Given the description of an element on the screen output the (x, y) to click on. 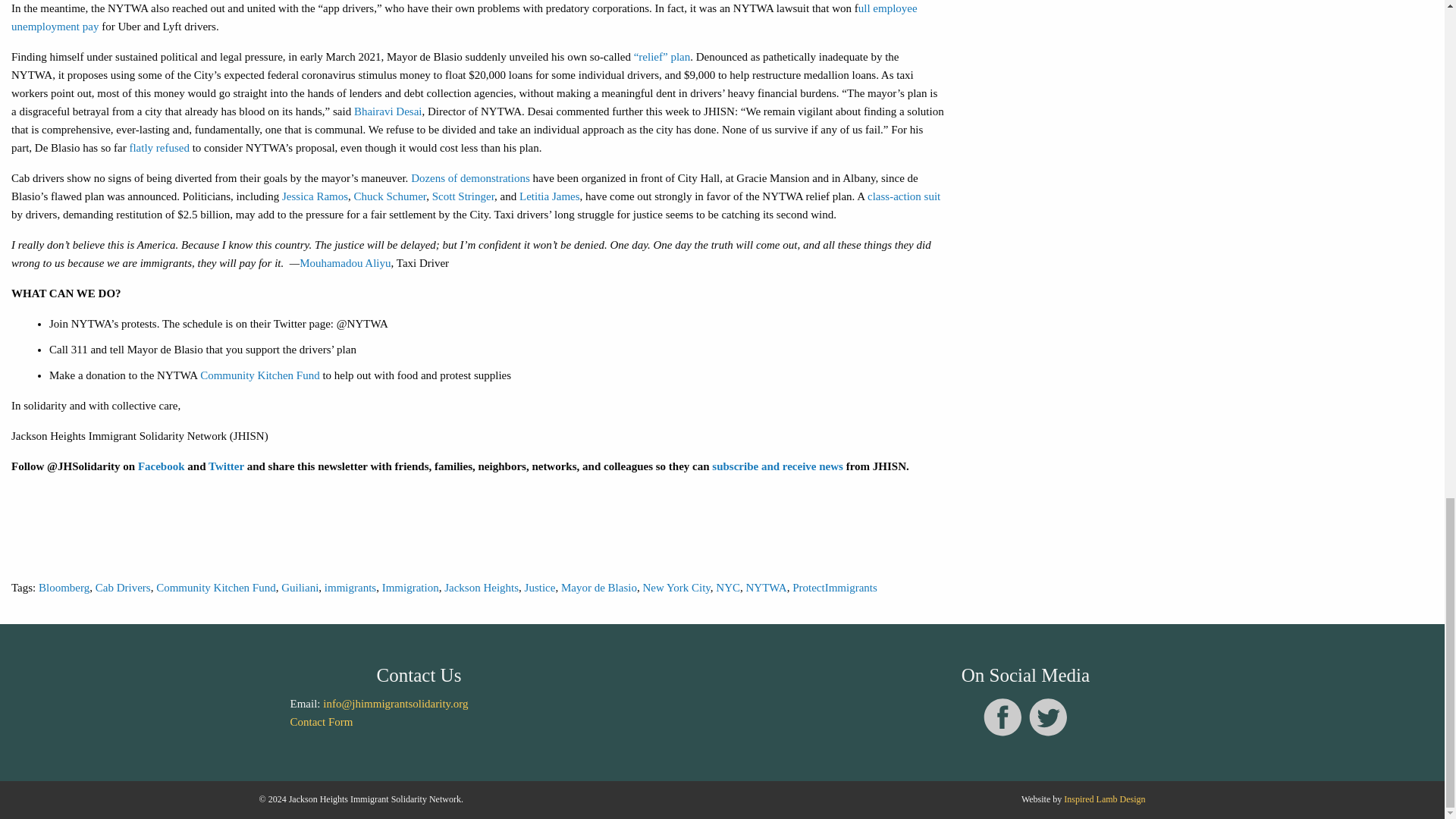
Facebook (1003, 734)
Twitter (1048, 734)
